Given the description of an element on the screen output the (x, y) to click on. 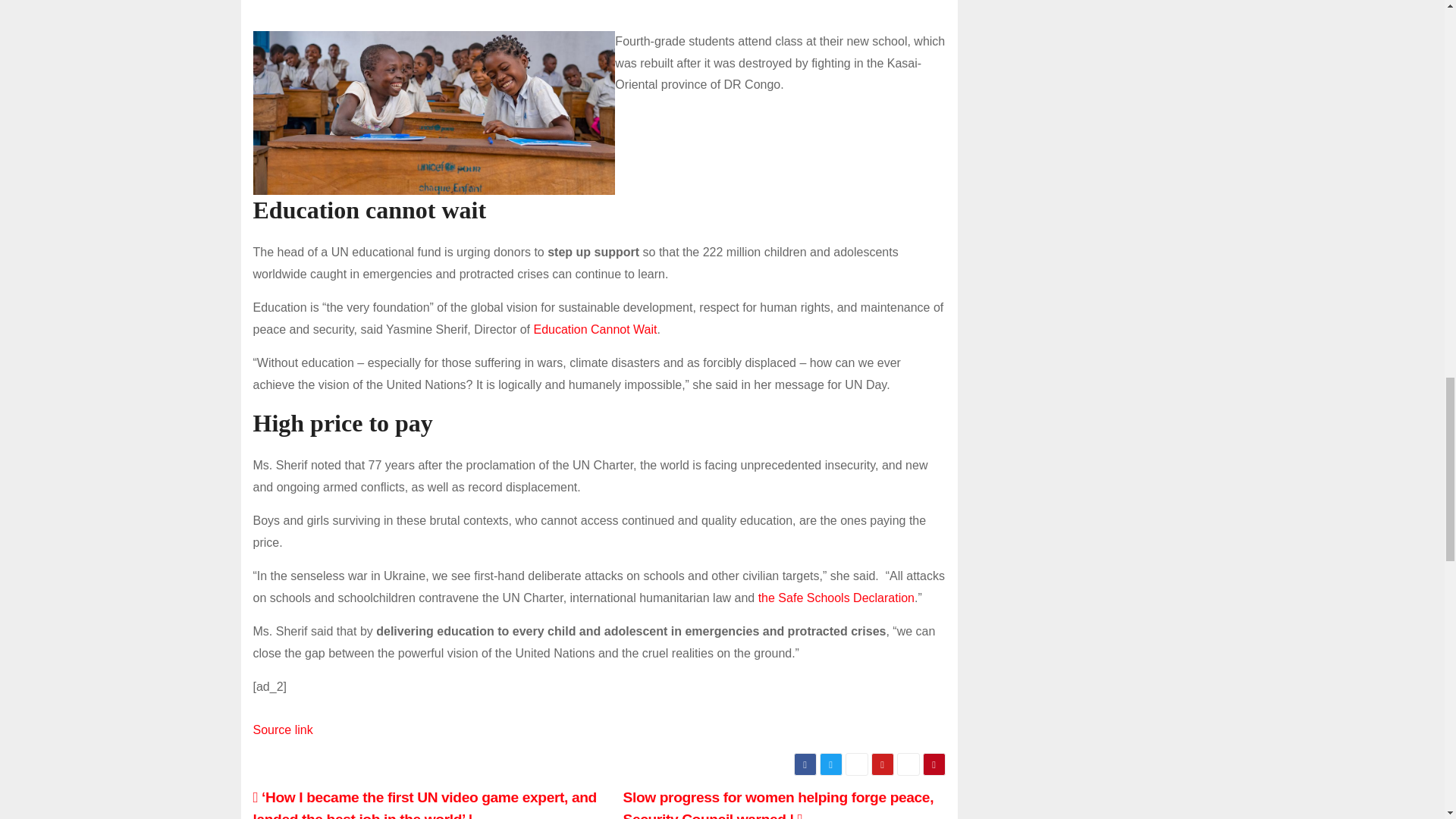
Education Cannot Wait (594, 328)
Source link (283, 729)
the Safe Schools Declaration (836, 597)
